Given the description of an element on the screen output the (x, y) to click on. 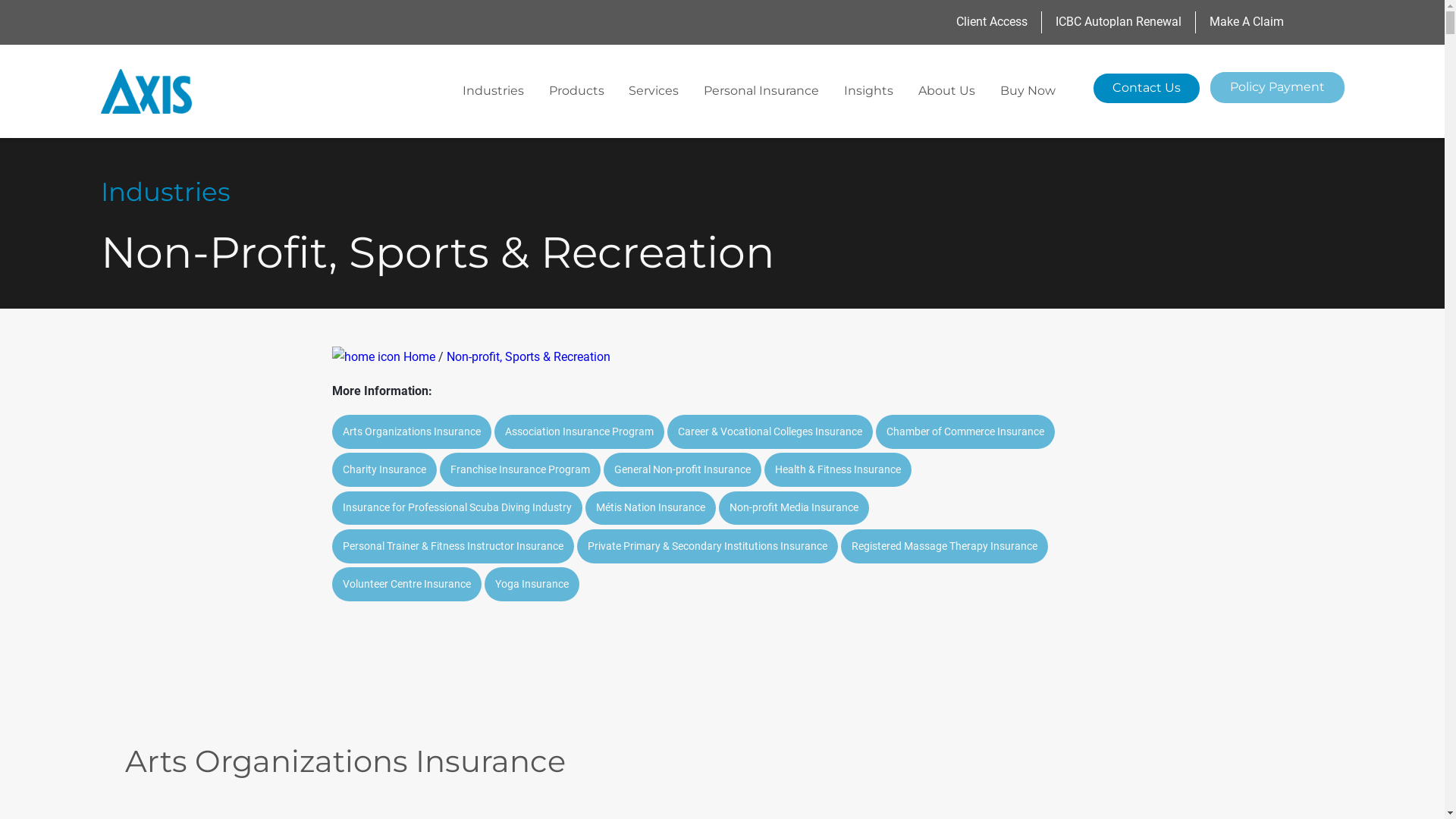
Insights Element type: text (868, 91)
Personal Insurance Element type: text (761, 91)
Chamber of Commerce Insurance Element type: text (964, 431)
Arts Organizations Insurance Element type: text (411, 431)
Buy Now Element type: text (1027, 91)
Personal Trainer & Fitness Instructor Insurance Element type: text (453, 546)
Yoga Insurance Element type: text (530, 584)
Charity Insurance Element type: text (384, 469)
Client Access Element type: text (998, 22)
Registered Massage Therapy Insurance Element type: text (943, 546)
About Us Element type: text (946, 91)
ICBC Autoplan Renewal Element type: text (1125, 22)
Contact Us Element type: text (1146, 88)
Insurance for Professional Scuba Diving Industry Element type: text (457, 508)
Make A Claim Element type: text (1246, 22)
Home Element type: text (383, 356)
Non-profit Media Insurance Element type: text (793, 508)
Association Insurance Program Element type: text (579, 431)
Private Primary & Secondary Institutions Insurance Element type: text (706, 546)
Volunteer Centre Insurance Element type: text (406, 584)
General Non-profit Insurance Element type: text (682, 469)
Products Element type: text (576, 91)
Health & Fitness Insurance Element type: text (837, 469)
Industries Element type: text (493, 91)
Services Element type: text (653, 91)
Career & Vocational Colleges Insurance Element type: text (769, 431)
Policy Payment Element type: text (1277, 87)
Franchise Insurance Program Element type: text (519, 469)
Non-profit, Sports & Recreation Element type: text (527, 356)
